Given the description of an element on the screen output the (x, y) to click on. 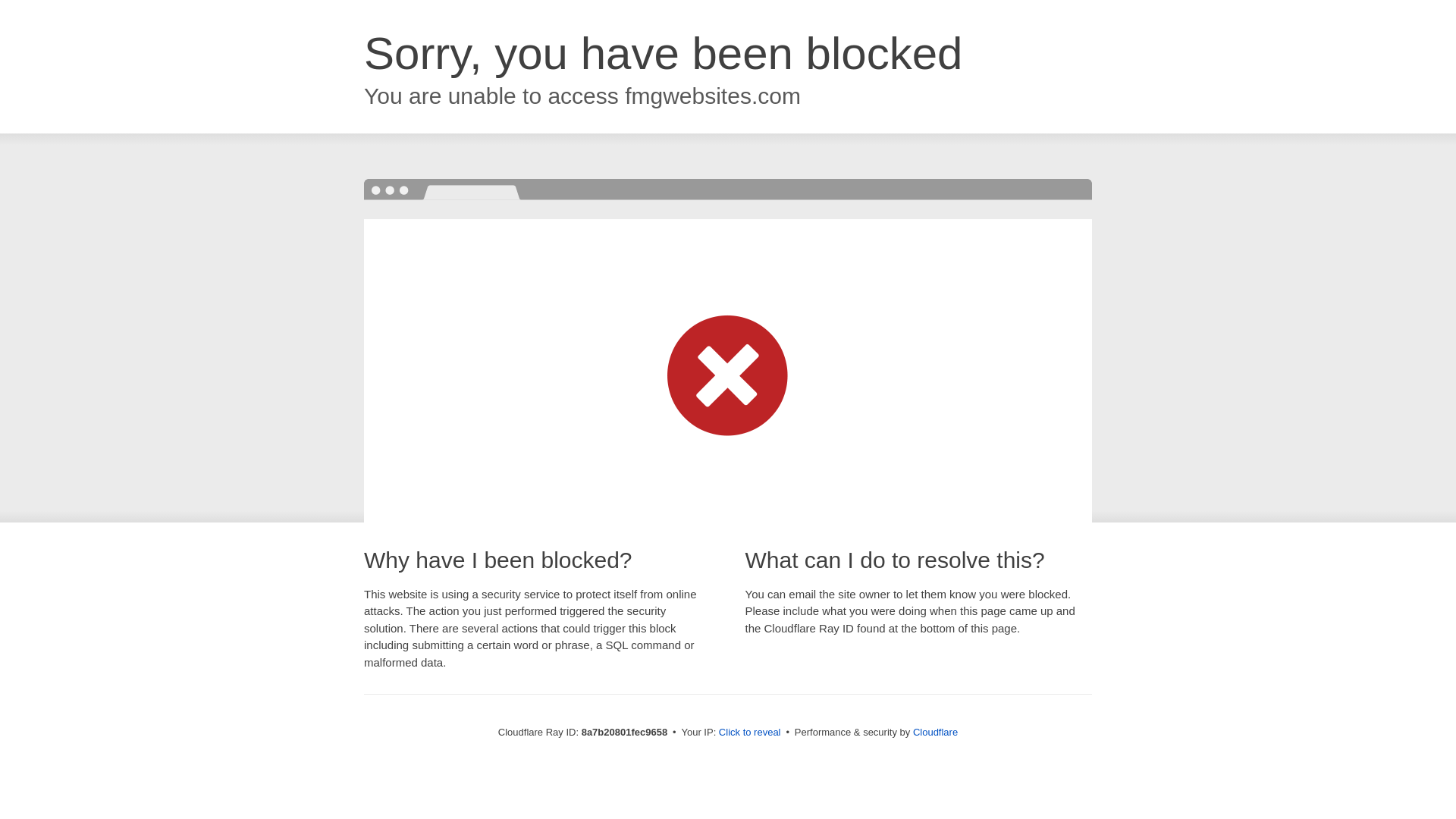
Cloudflare (935, 731)
Click to reveal (749, 732)
